Given the description of an element on the screen output the (x, y) to click on. 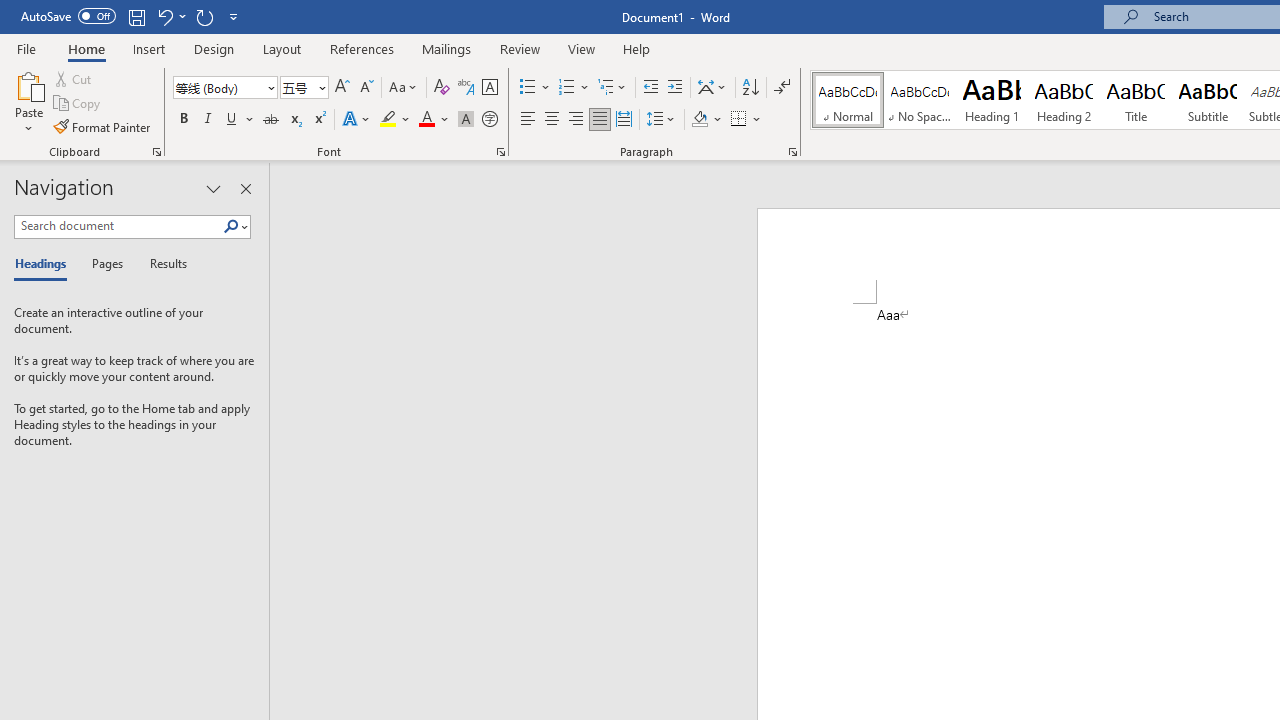
Font... (500, 151)
Font Color (434, 119)
Undo AutoCorrect (164, 15)
Decrease Indent (650, 87)
System (10, 11)
Subscript (294, 119)
Grow Font (342, 87)
Paste (28, 84)
Enclose Characters... (489, 119)
Text Highlight Color Yellow (388, 119)
Sort... (750, 87)
Align Left (527, 119)
Text Effects and Typography (357, 119)
Bold (183, 119)
